Given the description of an element on the screen output the (x, y) to click on. 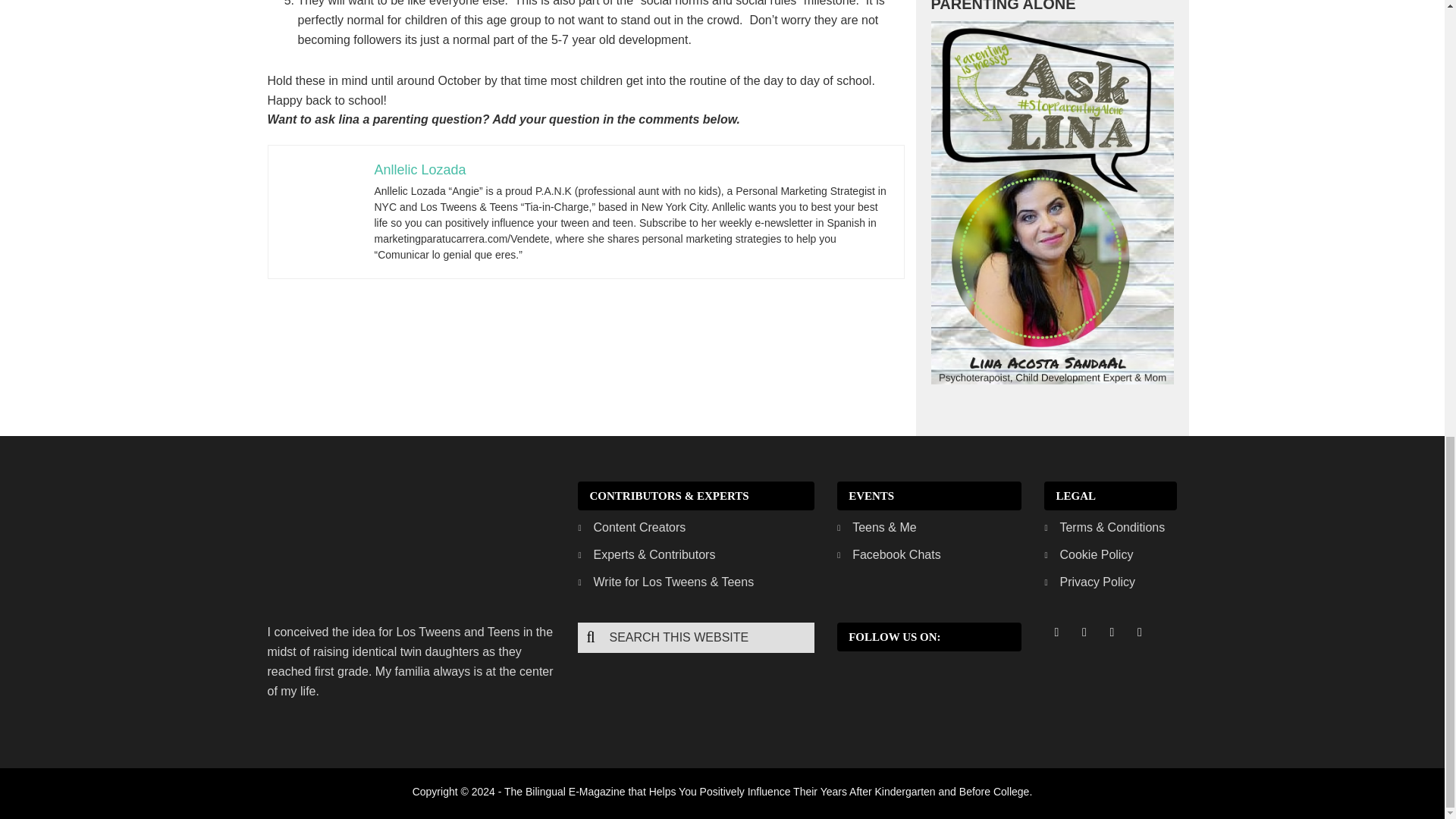
Lostweens Youtube (1138, 631)
Lostweens Facebook (1055, 631)
Lostweens Twitter (1083, 631)
Lostweens Instagram (1111, 631)
